Given the description of an element on the screen output the (x, y) to click on. 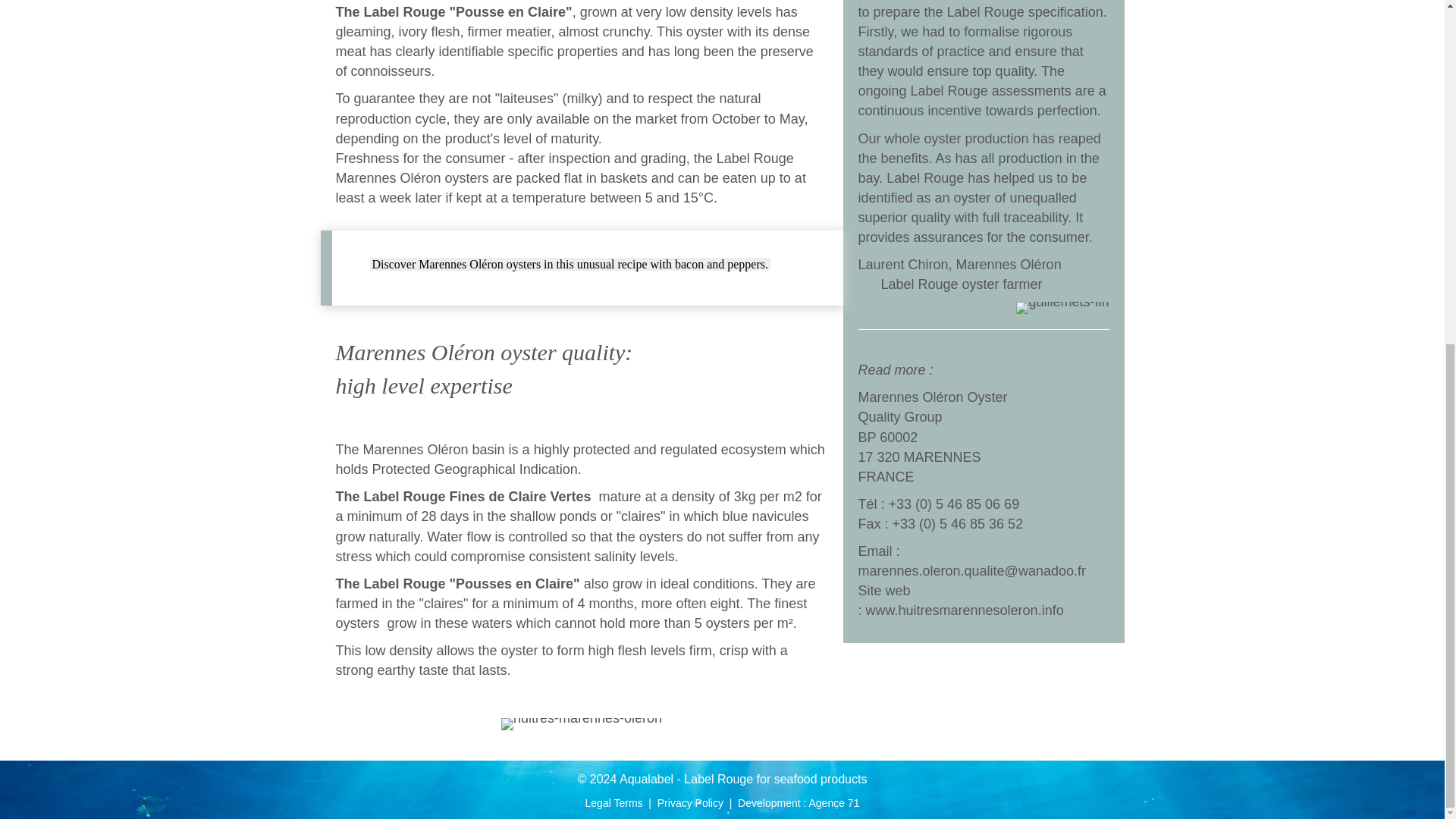
Privacy Policy (690, 802)
Agence 71 (833, 802)
Legal Terms (614, 802)
www.huitresmarennesoleron.info (965, 610)
guillemets-fin (1062, 307)
huitres-marennes-oleron (581, 724)
